Given the description of an element on the screen output the (x, y) to click on. 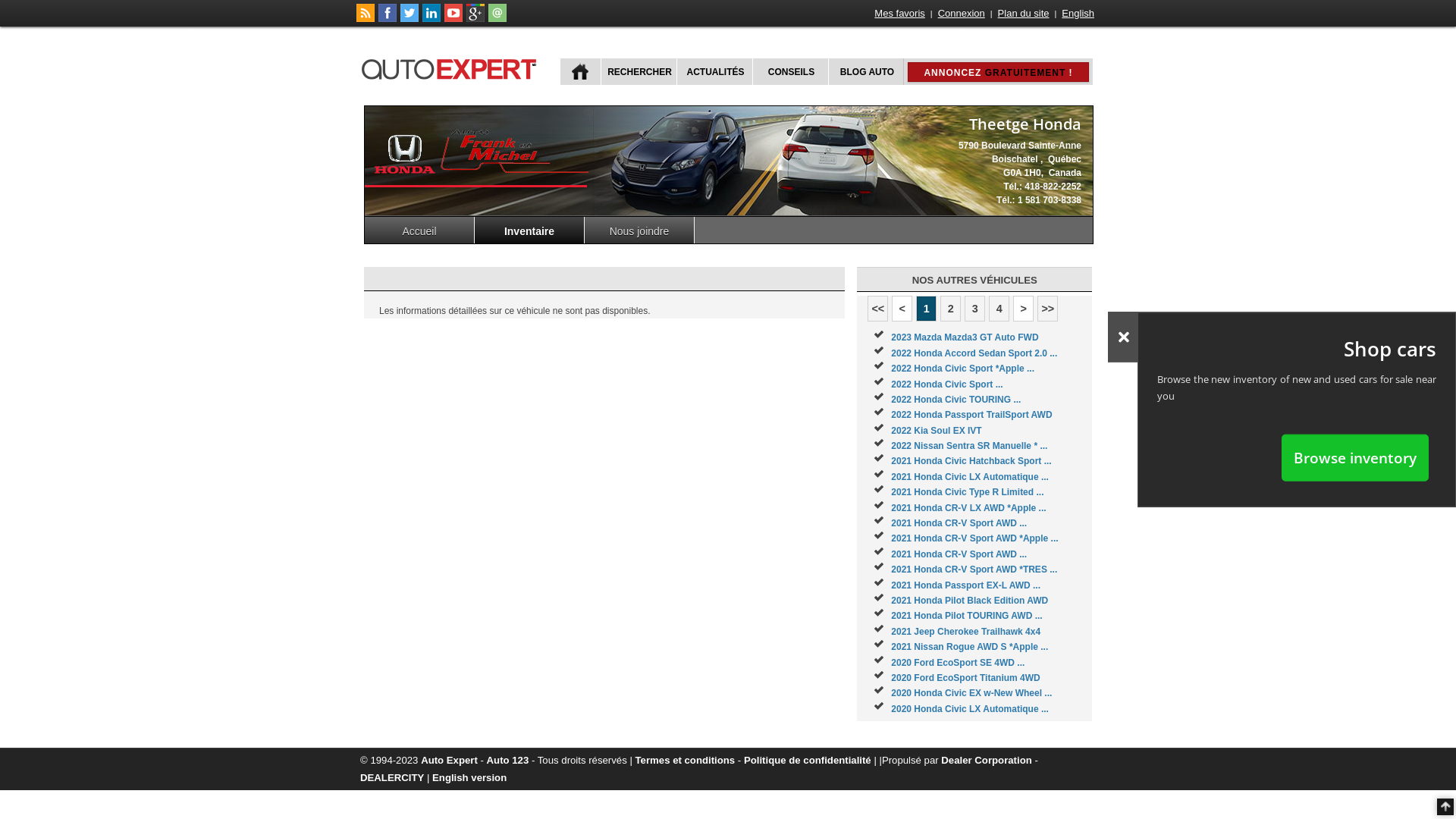
Nous joindre Element type: text (639, 229)
Suivez autoExpert.ca sur Twitter Element type: hover (409, 18)
2022 Honda Passport TrailSport AWD Element type: text (971, 414)
2021 Honda CR-V Sport AWD *Apple ... Element type: text (974, 538)
1 Element type: text (926, 308)
2021 Honda Civic Type R Limited ... Element type: text (967, 491)
ANNONCEZ GRATUITEMENT ! Element type: text (997, 71)
2020 Honda Civic LX Automatique ... Element type: text (969, 708)
Joindre autoExpert.ca Element type: hover (497, 18)
2021 Honda Civic Hatchback Sport ... Element type: text (971, 460)
4 Element type: text (998, 308)
2022 Nissan Sentra SR Manuelle * ... Element type: text (969, 445)
Accueil Element type: text (419, 229)
> Element type: text (1023, 308)
2023 Mazda Mazda3 GT Auto FWD Element type: text (964, 337)
Auto Expert Element type: text (448, 759)
Dealer Corporation Element type: text (986, 759)
Suivez autoExpert.ca sur Google Plus Element type: hover (475, 18)
2022 Honda Civic Sport *Apple ... Element type: text (962, 368)
CONSEILS Element type: text (789, 71)
2021 Honda CR-V Sport AWD ... Element type: text (958, 522)
2021 Honda Pilot TOURING AWD ... Element type: text (966, 615)
Connexion Element type: text (961, 13)
3 Element type: text (974, 308)
Inventaire Element type: text (529, 229)
>> Element type: text (1047, 308)
RECHERCHER Element type: text (637, 71)
DEALERCITY Element type: text (391, 777)
2021 Jeep Cherokee Trailhawk 4x4 Element type: text (965, 631)
2022 Kia Soul EX IVT Element type: text (936, 430)
Termes et conditions Element type: text (685, 759)
< Element type: text (901, 308)
2020 Ford EcoSport SE 4WD ... Element type: text (957, 662)
Suivez autoExpert.ca sur Youtube Element type: hover (453, 18)
2021 Honda Passport EX-L AWD ... Element type: text (965, 585)
2021 Honda CR-V LX AWD *Apple ... Element type: text (968, 507)
BLOG AUTO Element type: text (865, 71)
2020 Honda Civic EX w-New Wheel ... Element type: text (971, 692)
Plan du site Element type: text (1023, 13)
Suivez autoExpert.ca sur Facebook Element type: hover (387, 18)
Suivez Publications Le Guide Inc. sur LinkedIn Element type: hover (431, 18)
2021 Honda CR-V Sport AWD *TRES ... Element type: text (974, 569)
ACCUEIL Element type: text (580, 71)
2022 Honda Civic TOURING ... Element type: text (955, 399)
<< Element type: text (877, 308)
English version Element type: text (469, 777)
English Element type: text (1077, 13)
2021 Honda Pilot Black Edition AWD Element type: text (969, 600)
2021 Nissan Rogue AWD S *Apple ... Element type: text (969, 646)
2022 Honda Civic Sport ... Element type: text (946, 384)
2021 Honda CR-V Sport AWD ... Element type: text (958, 554)
2022 Honda Accord Sedan Sport 2.0 ... Element type: text (974, 353)
2 Element type: text (950, 308)
2021 Honda Civic LX Automatique ... Element type: text (969, 476)
Auto 123 Element type: text (507, 759)
Browse inventory Element type: text (1354, 457)
2020 Ford EcoSport Titanium 4WD Element type: text (965, 677)
Mes favoris Element type: text (898, 13)
autoExpert.ca Element type: text (451, 66)
